Given the description of an element on the screen output the (x, y) to click on. 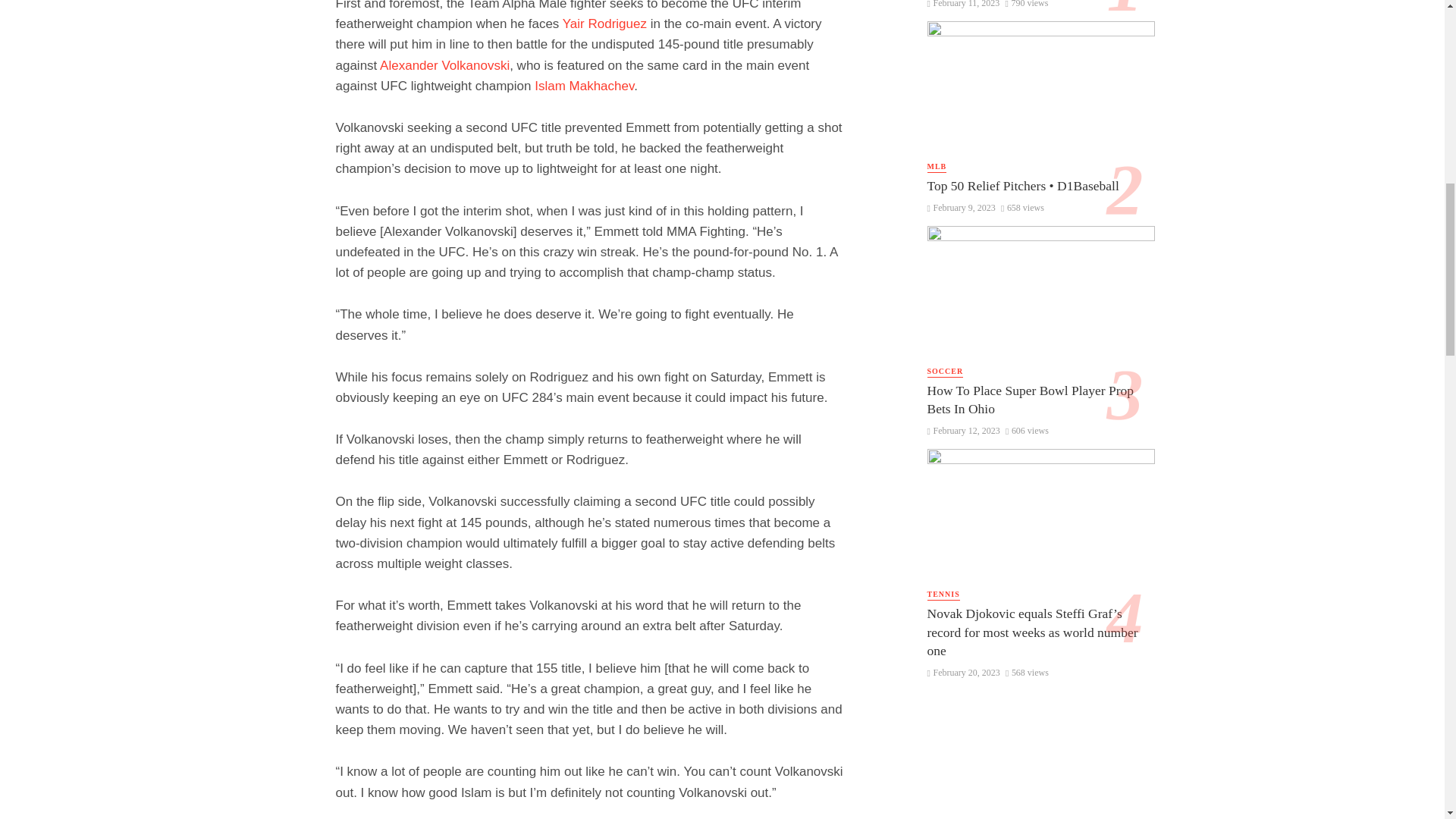
Alexander Volkanovski (444, 65)
Islam Makhachev (583, 85)
Yair Rodriguez (604, 23)
